Given the description of an element on the screen output the (x, y) to click on. 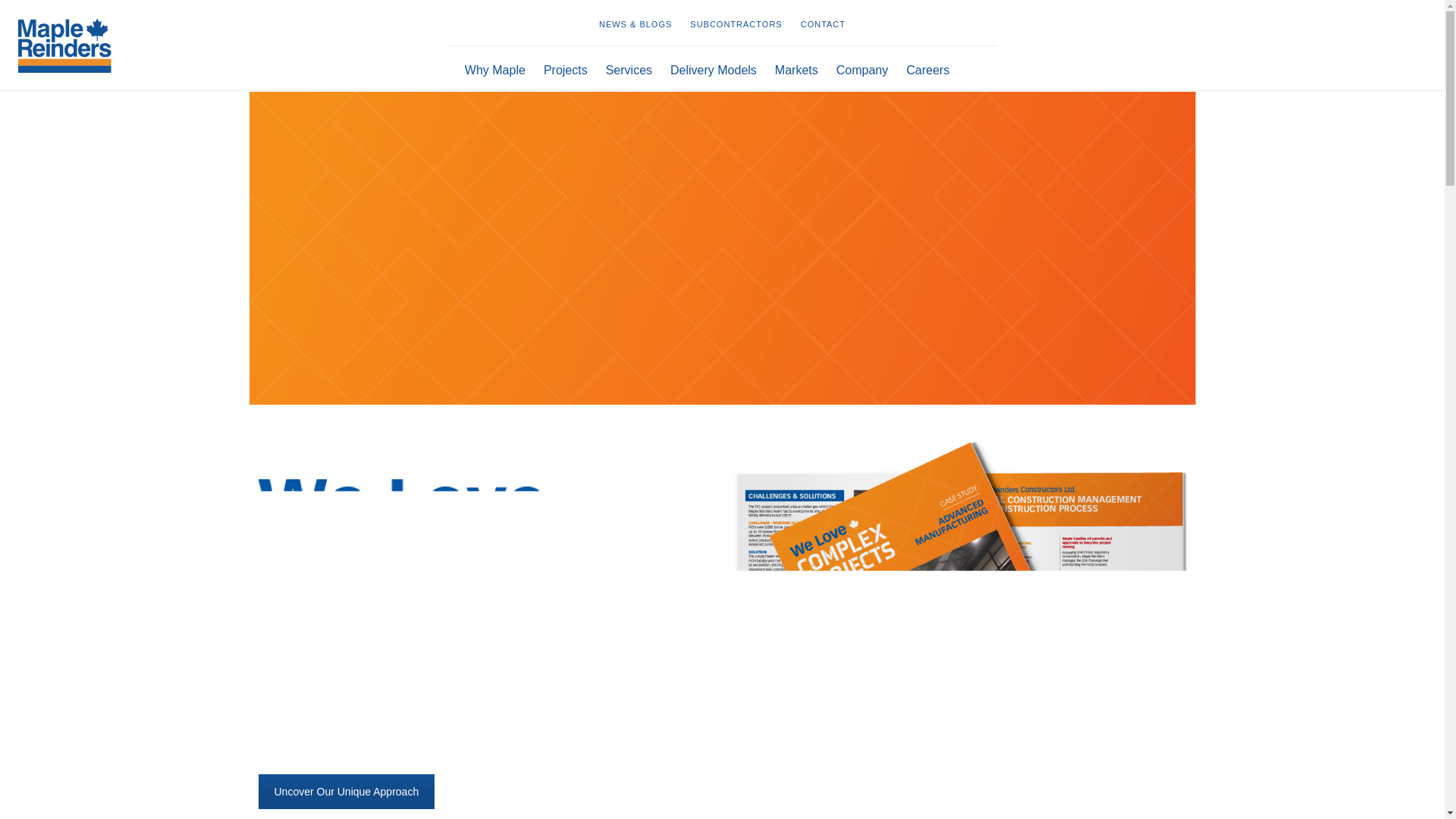
CONTACT (823, 22)
Delivery Models (713, 67)
Services (628, 67)
Markets (796, 67)
Projects (565, 67)
Why Maple (490, 67)
SUBCONTRACTORS (735, 22)
